Given the description of an element on the screen output the (x, y) to click on. 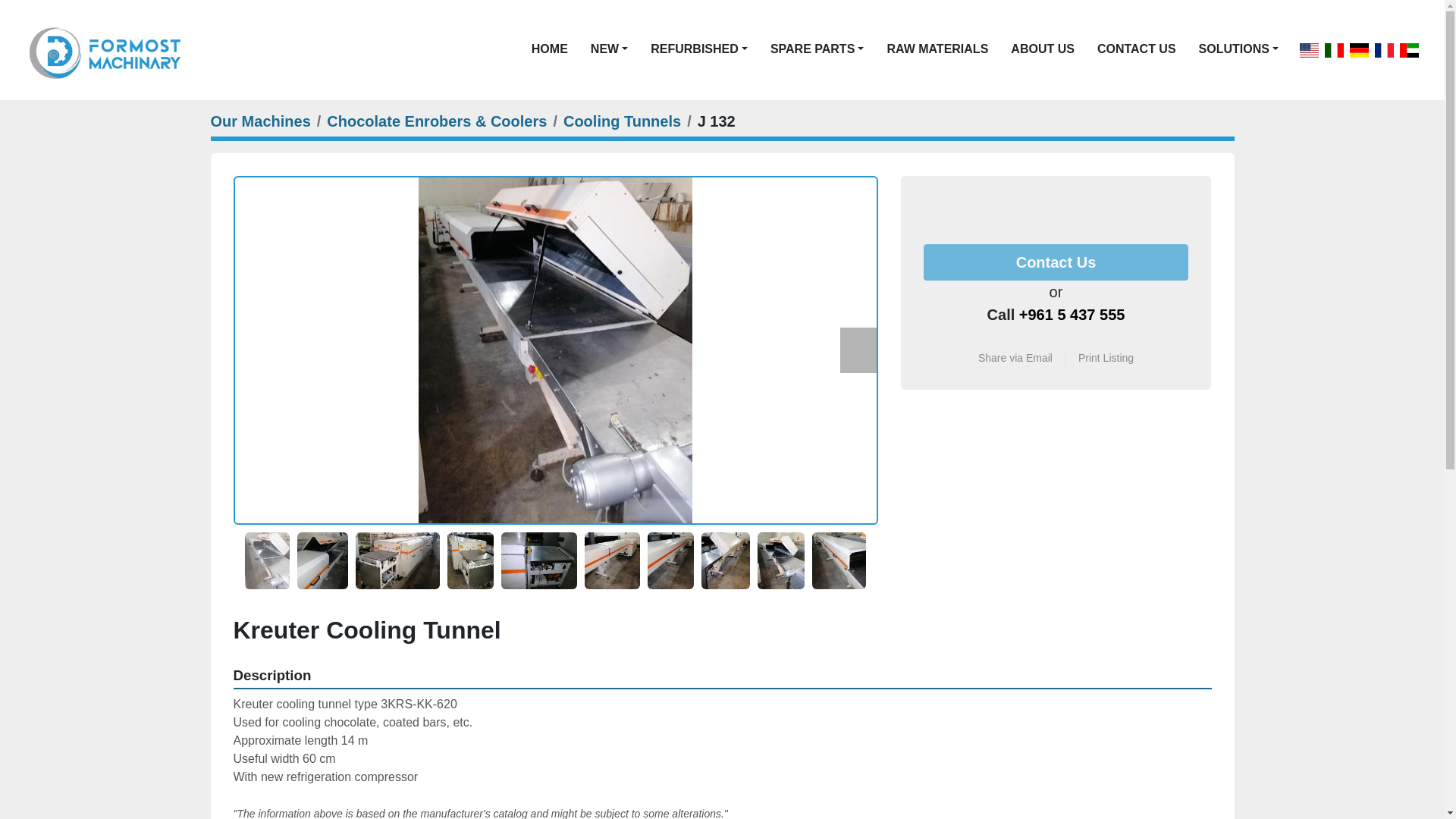
NEW (604, 49)
HOME (549, 49)
REFURBISHED (694, 49)
